Given the description of an element on the screen output the (x, y) to click on. 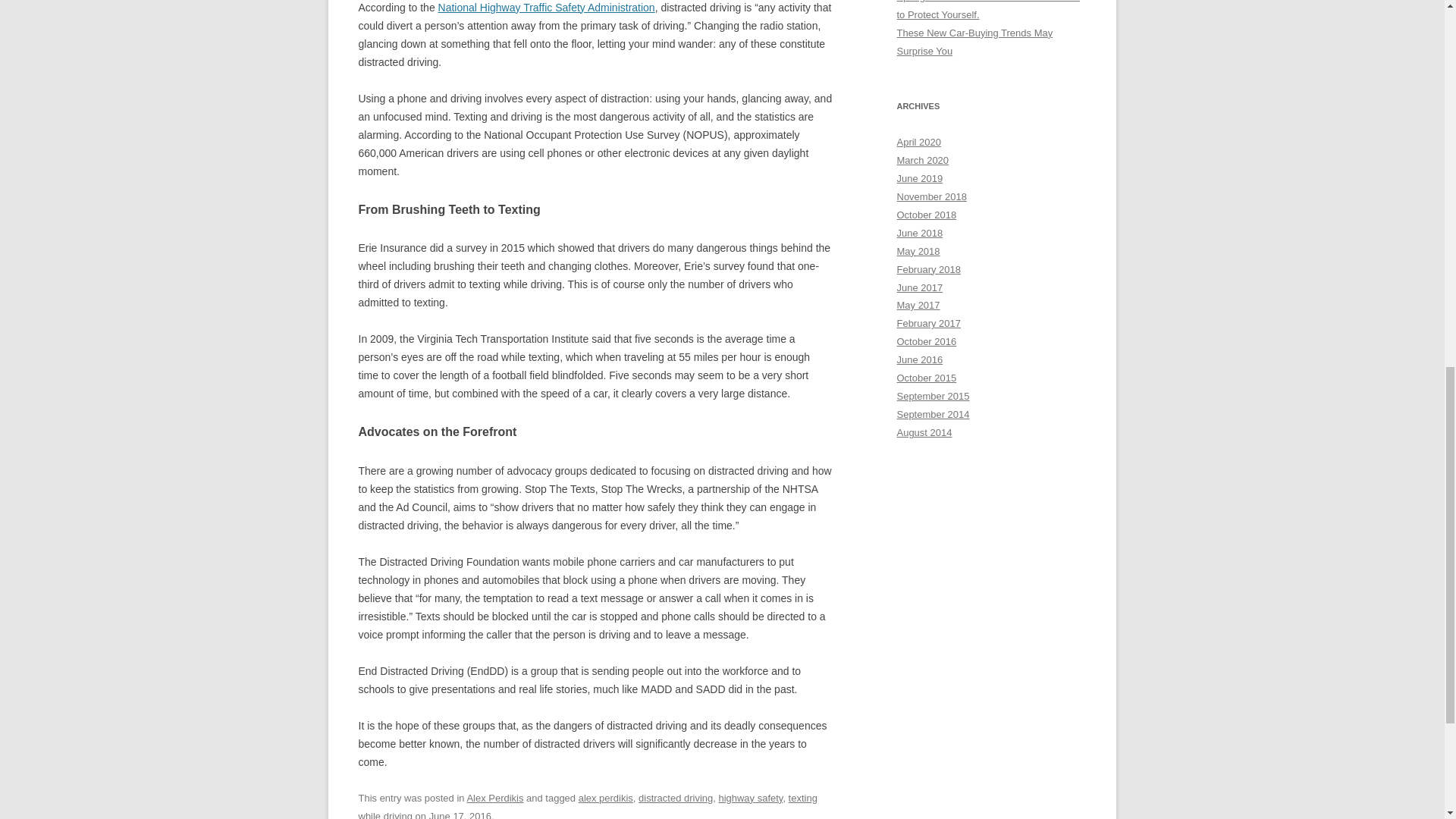
June 2017 (919, 287)
texting while driving (587, 805)
June 2018 (919, 233)
highway safety (750, 797)
National Highway Traffic Safety Administration (546, 7)
November 2018 (931, 196)
Alex Perdikis (493, 797)
June 2019 (919, 178)
These New Car-Buying Trends May Surprise You (974, 41)
12:37 am (460, 814)
October 2018 (926, 214)
distracted driving (676, 797)
June 17, 2016 (460, 814)
March 2020 (922, 160)
alex perdikis (605, 797)
